Given the description of an element on the screen output the (x, y) to click on. 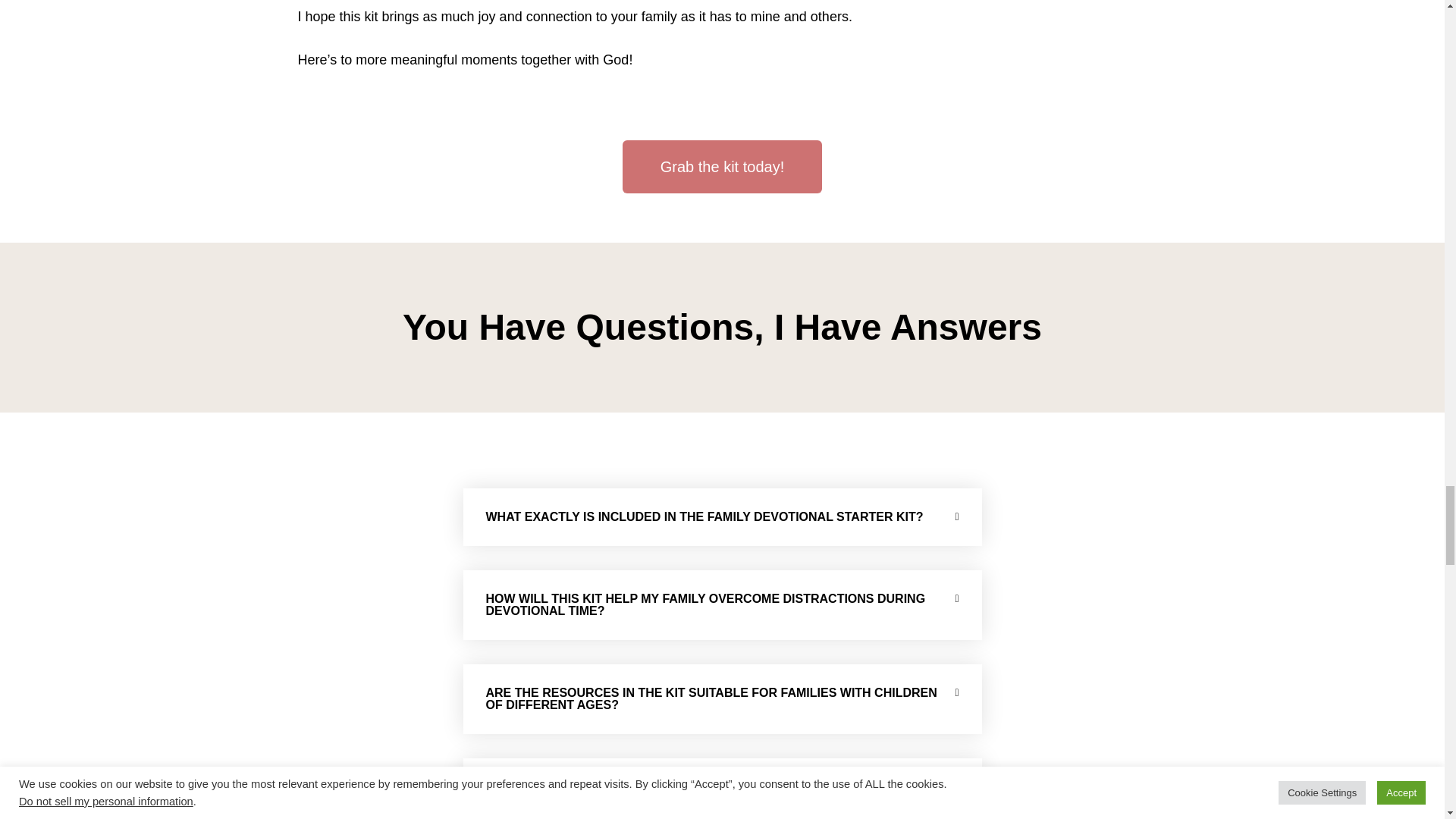
Grab the kit today! (722, 166)
WHAT DO I NEED TO OPEN THE FILES ? (602, 786)
